Given the description of an element on the screen output the (x, y) to click on. 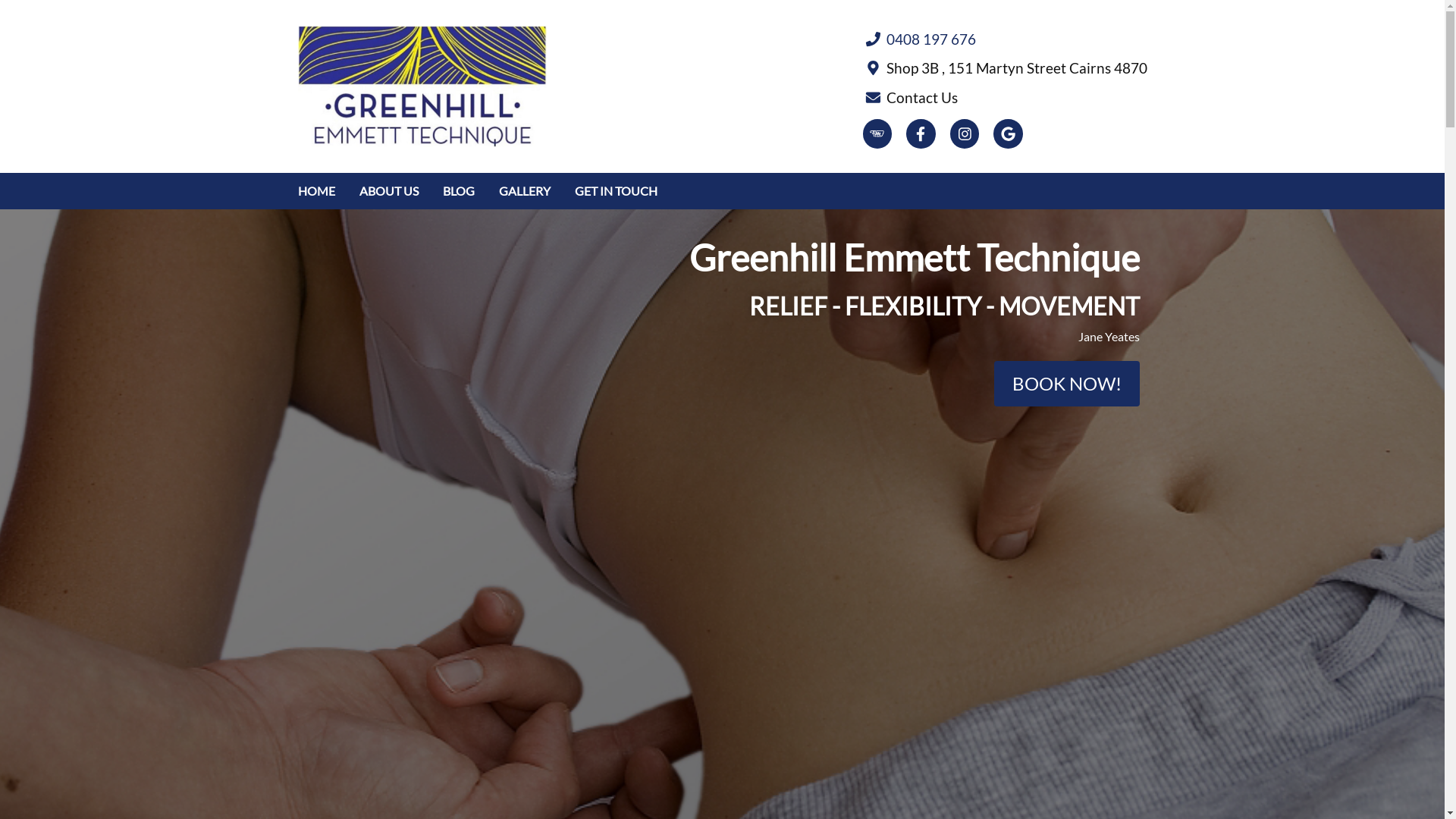
GALLERY Element type: text (524, 190)
HOME Element type: text (315, 190)
Contact Us Element type: text (1004, 97)
GET IN TOUCH Element type: text (615, 190)
BLOG Element type: text (458, 190)
BOOK NOW! Element type: text (1066, 383)
Shop 3B , 151 Martyn Street Cairns 4870 Element type: text (1004, 68)
ABOUT US Element type: text (388, 190)
0408 197 676 Element type: text (1004, 38)
